Given the description of an element on the screen output the (x, y) to click on. 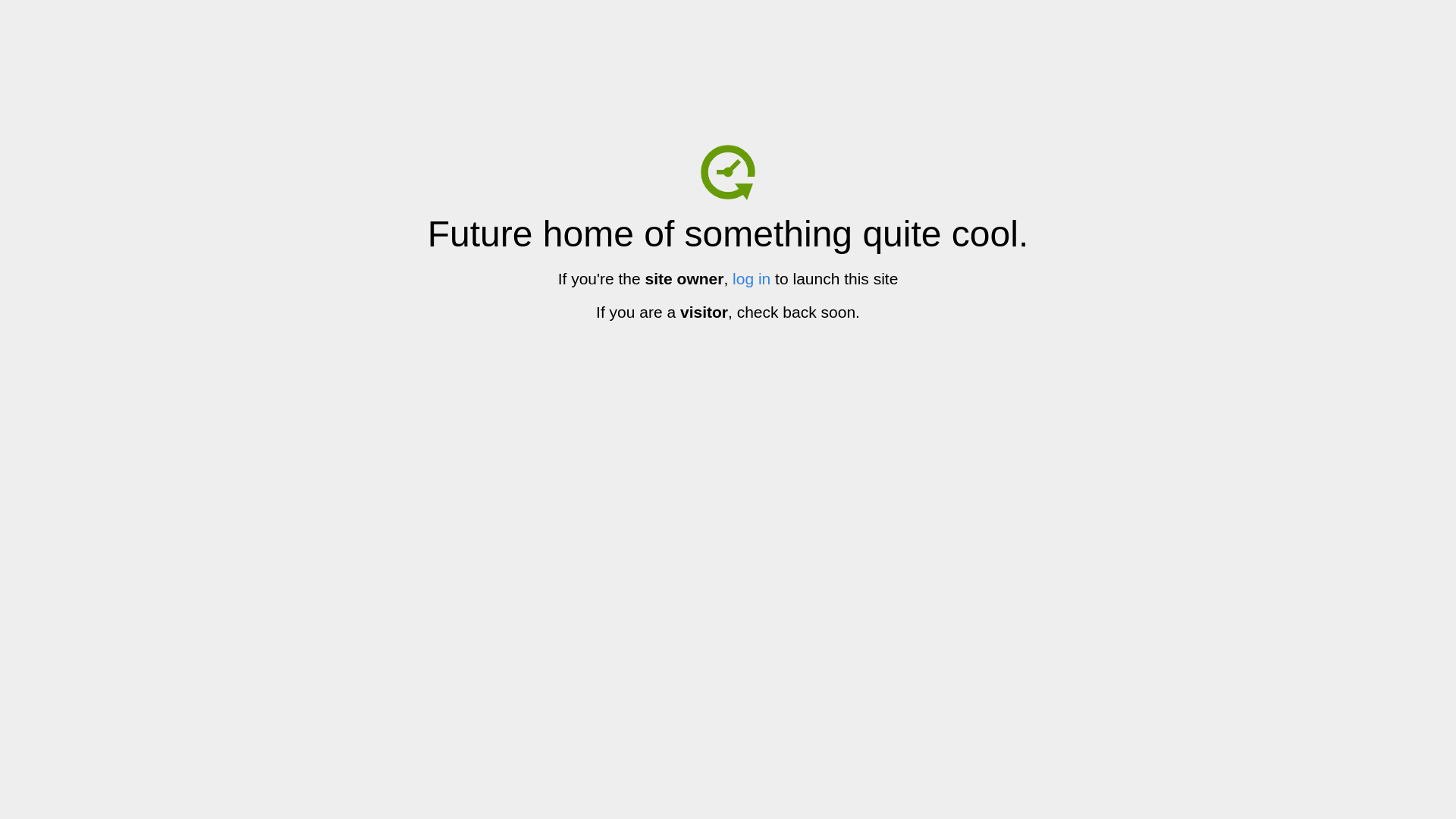
log in Element type: text (751, 278)
